Given the description of an element on the screen output the (x, y) to click on. 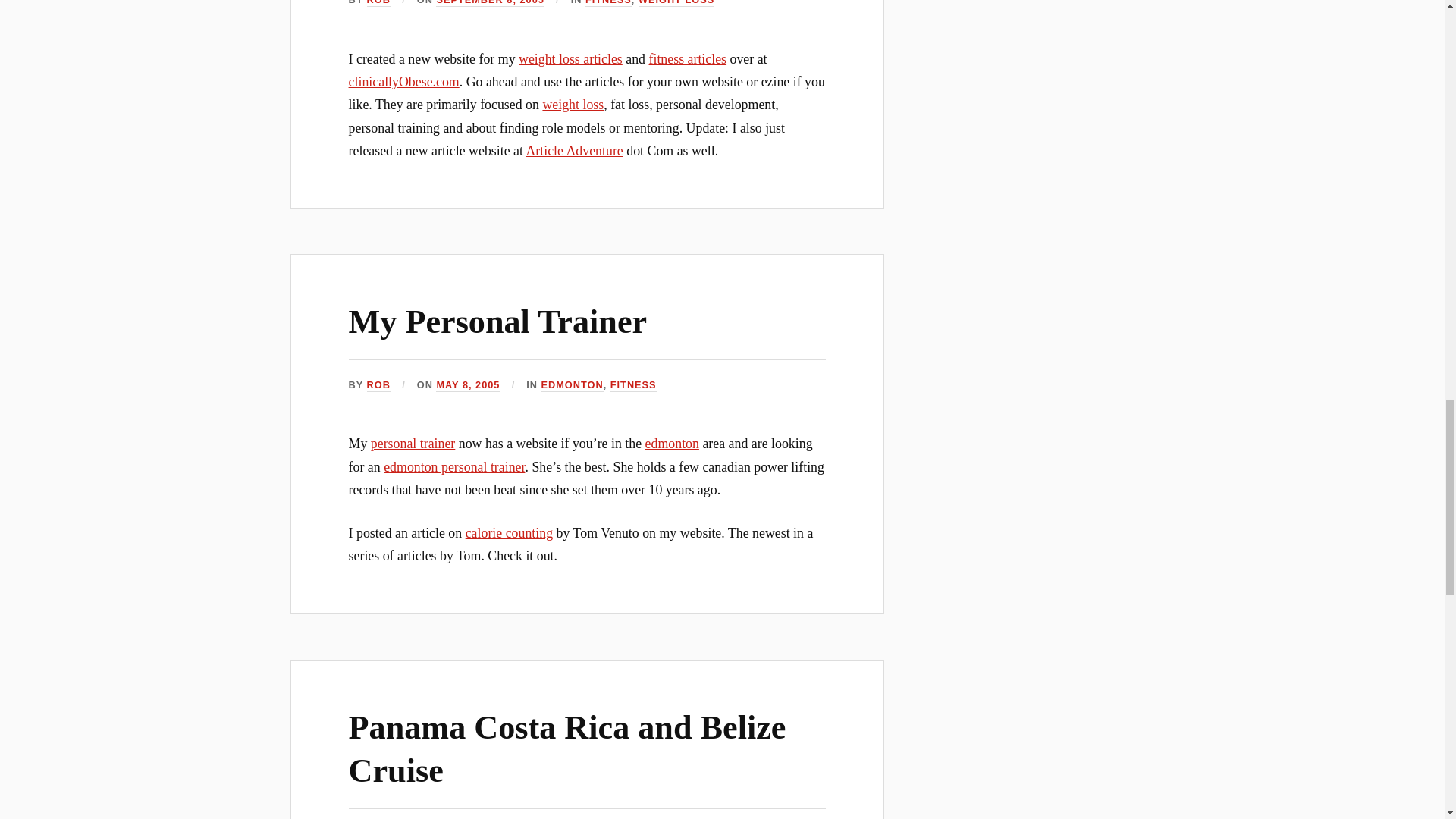
edmonton (671, 443)
ROB (378, 3)
personal trainer (412, 443)
weight loss (572, 104)
Posts by Rob (378, 3)
MAY 8, 2005 (467, 385)
My Personal Trainer (498, 321)
FITNESS (633, 385)
fitness articles (686, 58)
ROB (378, 385)
clinicallyObese.com (404, 81)
personal trainer (412, 443)
weight loss articles (570, 58)
SEPTEMBER 8, 2005 (489, 3)
EDMONTON (572, 385)
